Given the description of an element on the screen output the (x, y) to click on. 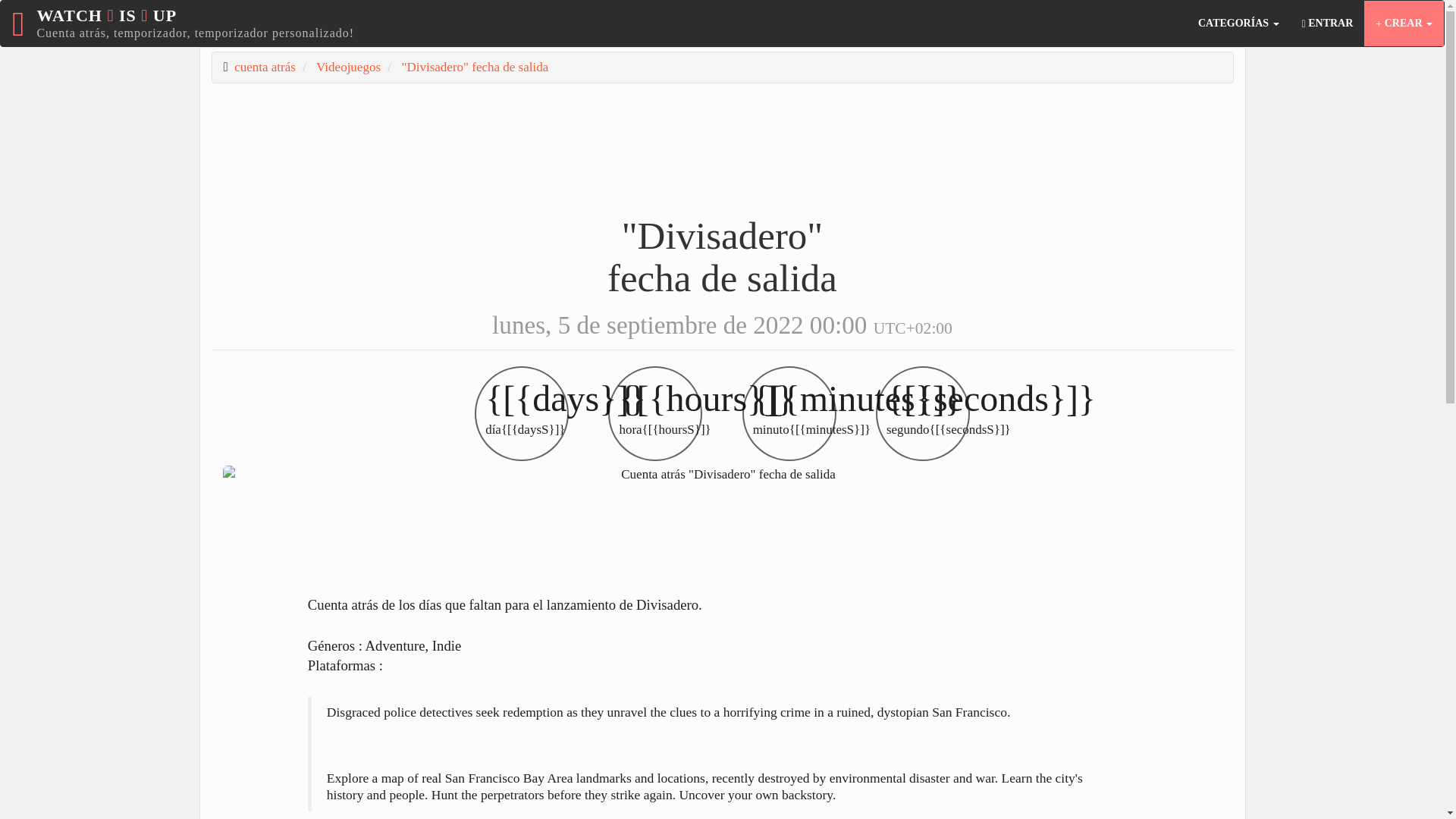
 CREAR (1404, 22)
 ENTRAR (1327, 22)
"Divisadero" fecha de salida (474, 66)
Videojuegos (347, 66)
